Given the description of an element on the screen output the (x, y) to click on. 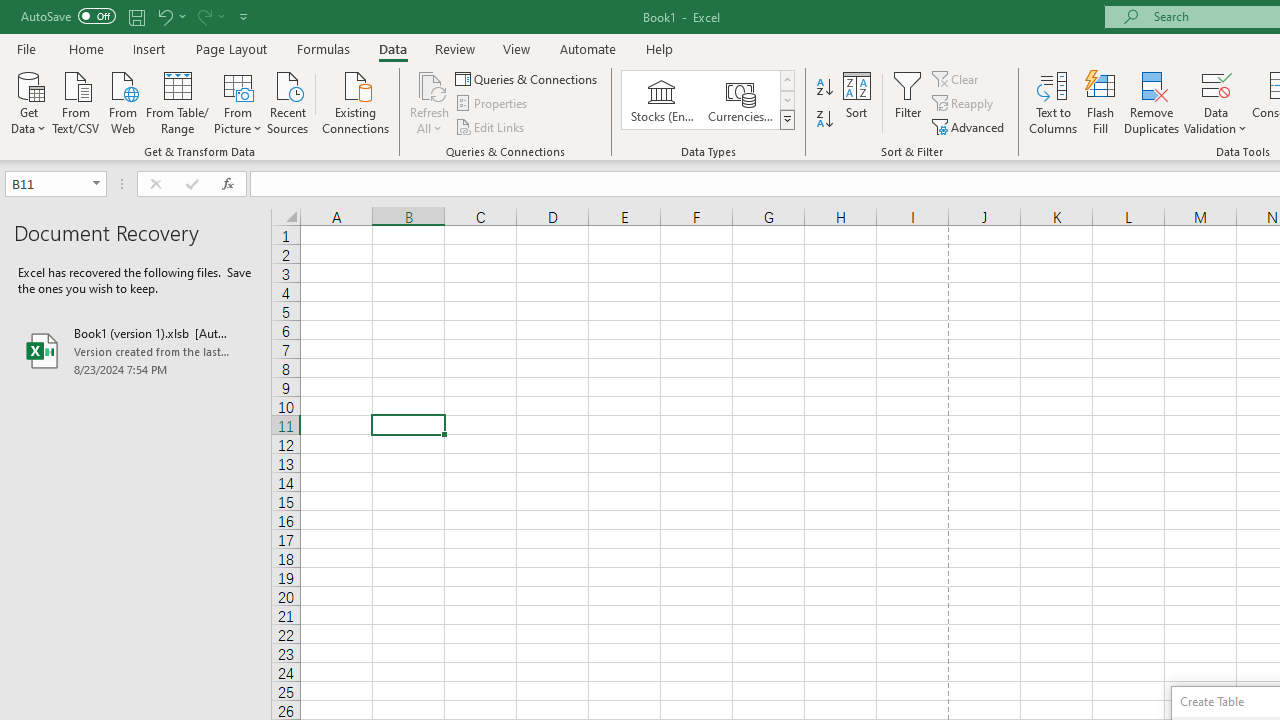
From Text/CSV (75, 101)
Stocks (English) (662, 100)
Sort Z to A (824, 119)
Clear (957, 78)
Flash Fill (1101, 102)
